Given the description of an element on the screen output the (x, y) to click on. 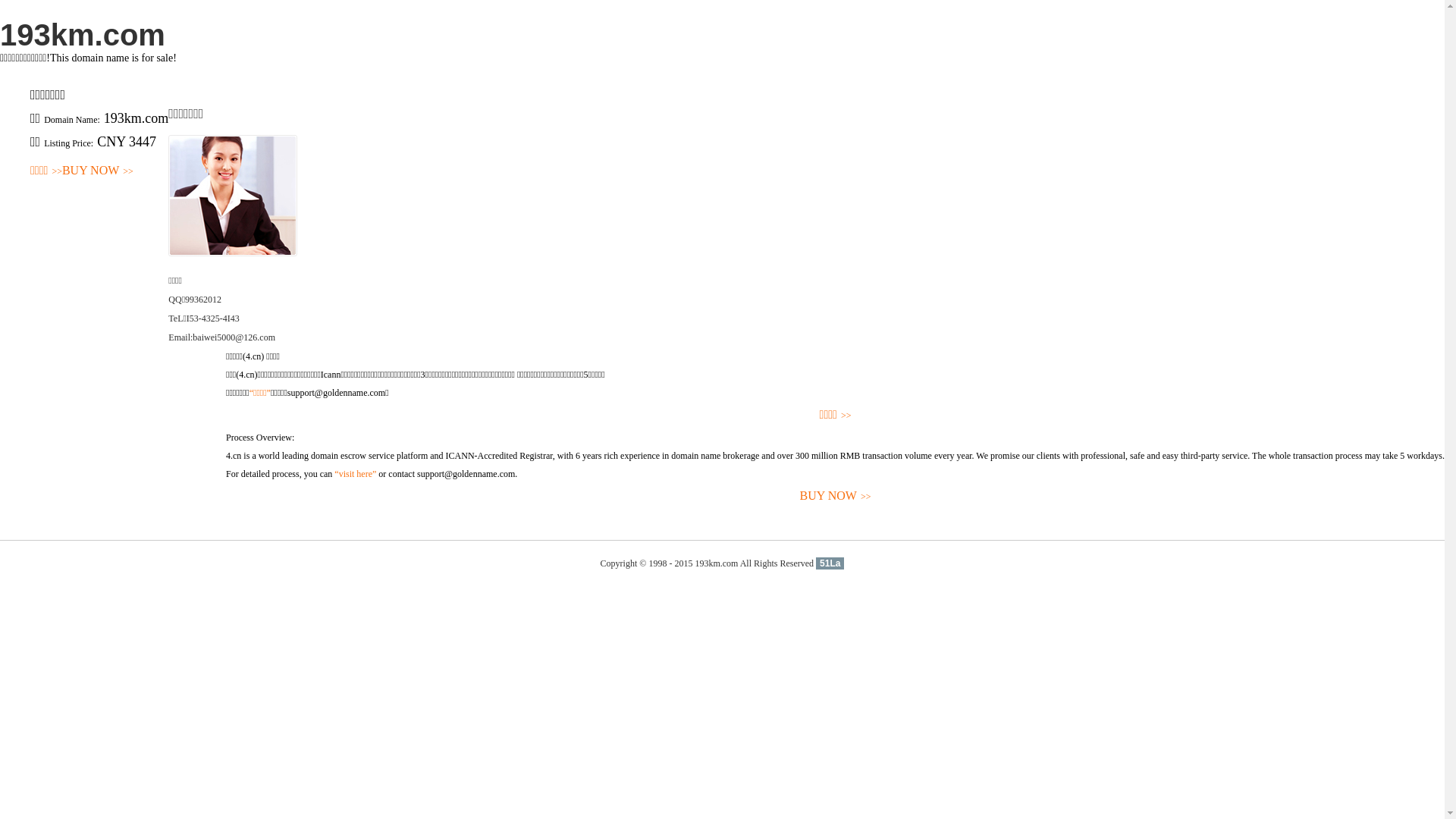
51La Element type: text (829, 563)
BUY NOW>> Element type: text (834, 496)
BUY NOW>> Element type: text (97, 170)
